Given the description of an element on the screen output the (x, y) to click on. 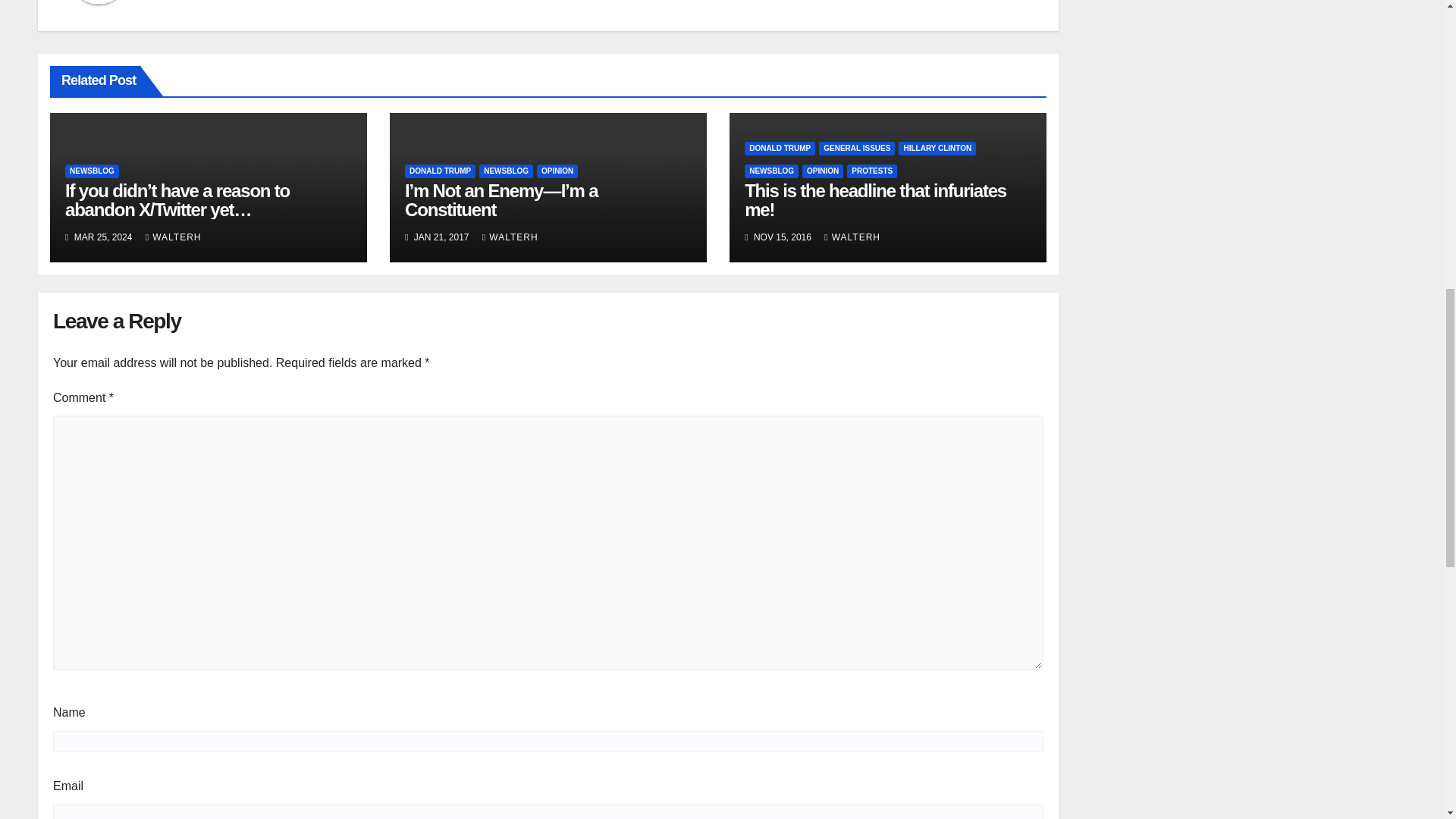
Permalink to: This is the headline that infuriates me! (875, 200)
